Given the description of an element on the screen output the (x, y) to click on. 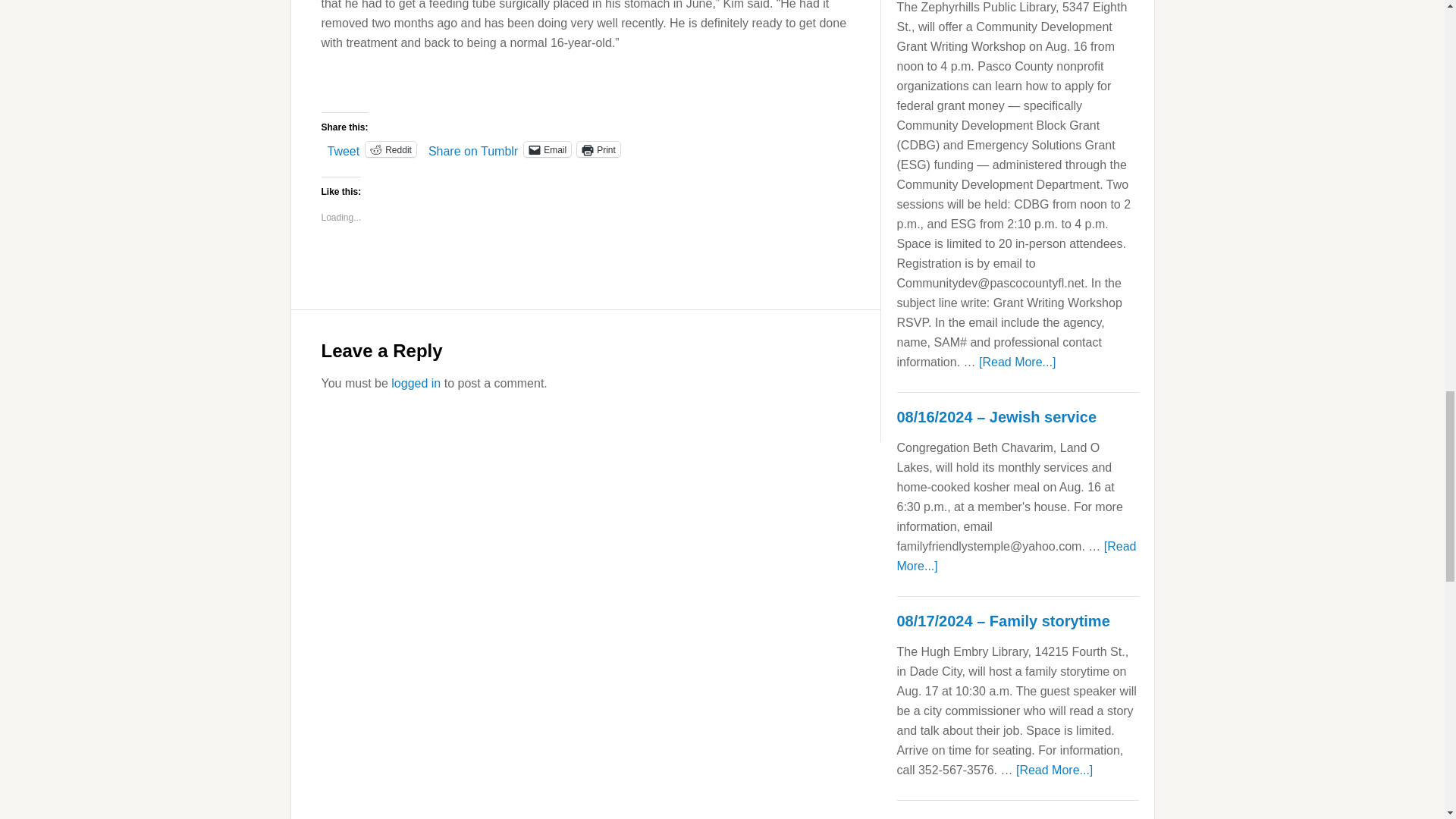
Share on Tumblr (473, 148)
Click to share on Reddit (390, 149)
Click to email a link to a friend (547, 149)
Click to print (598, 149)
